Given the description of an element on the screen output the (x, y) to click on. 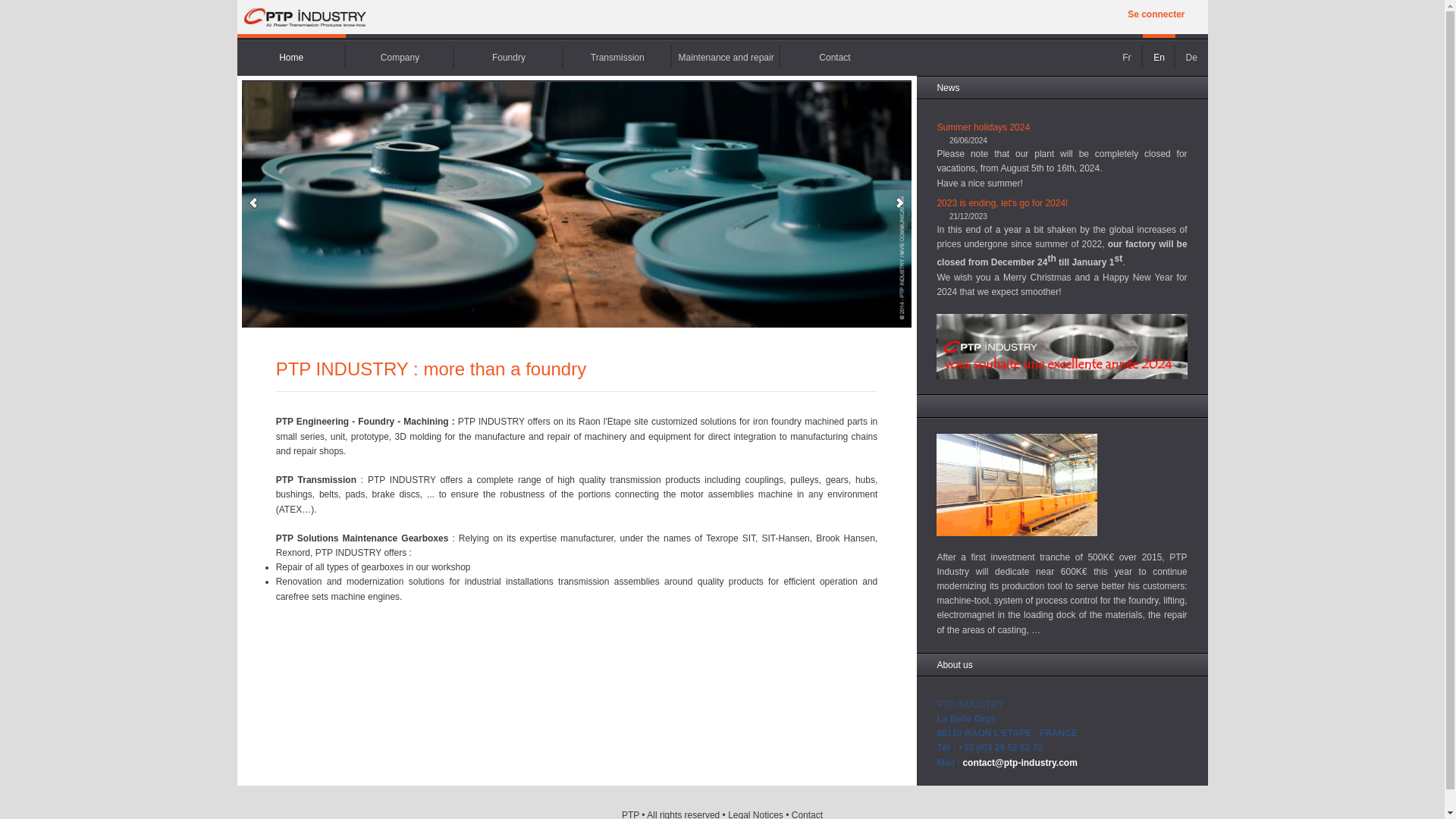
Contact (807, 814)
Contact (834, 55)
Company (400, 55)
Contact (807, 814)
Legal Notices (755, 814)
Legal Notices (755, 814)
Foundry (508, 55)
Home (303, 30)
Maintenance and repair (725, 55)
Foundry (508, 55)
